Given the description of an element on the screen output the (x, y) to click on. 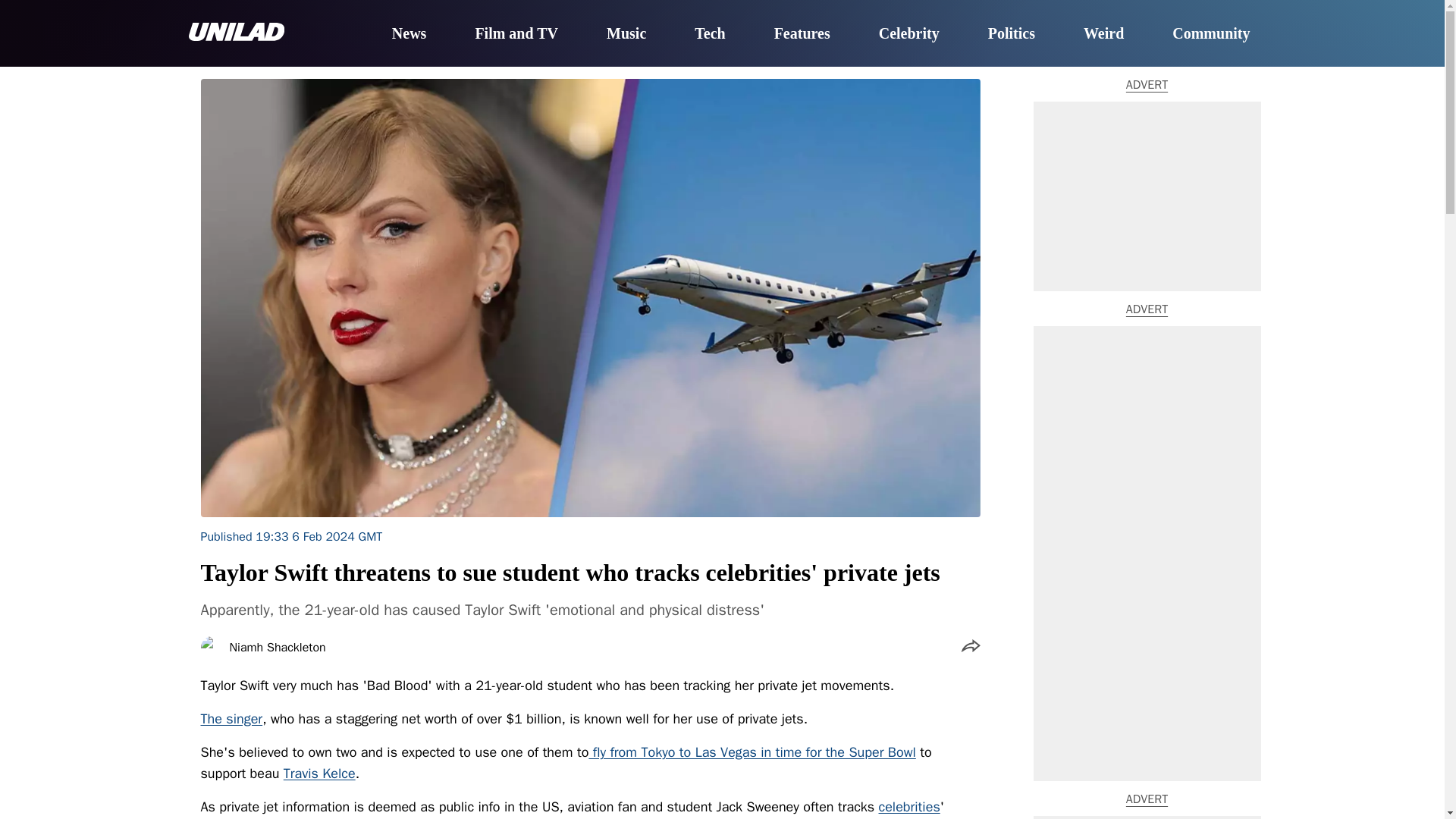
celebrities (909, 806)
Travis Kelce (319, 773)
Weird (1103, 34)
Film and TV (515, 34)
News (408, 34)
Politics (1011, 34)
Features (801, 34)
Tech (709, 34)
Community (1210, 34)
Music (626, 34)
fly from Tokyo to Las Vegas in time for the Super Bowl (751, 751)
Niamh Shackleton (276, 647)
The singer (231, 718)
Celebrity (909, 34)
